Given the description of an element on the screen output the (x, y) to click on. 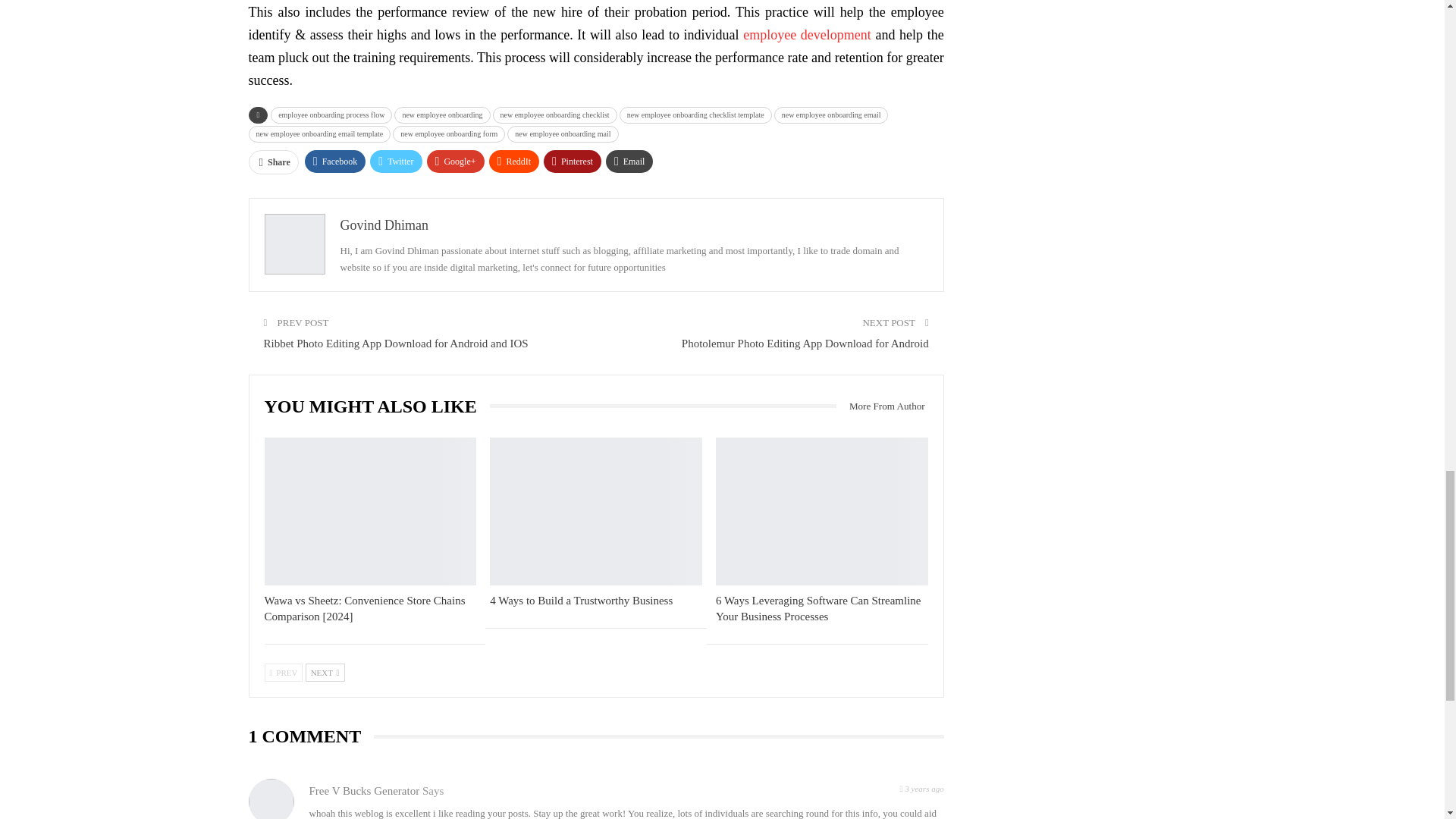
Previous (282, 672)
4 Ways to Build a Trustworthy Business (580, 600)
4 Ways to Build a Trustworthy Business (595, 511)
